Given the description of an element on the screen output the (x, y) to click on. 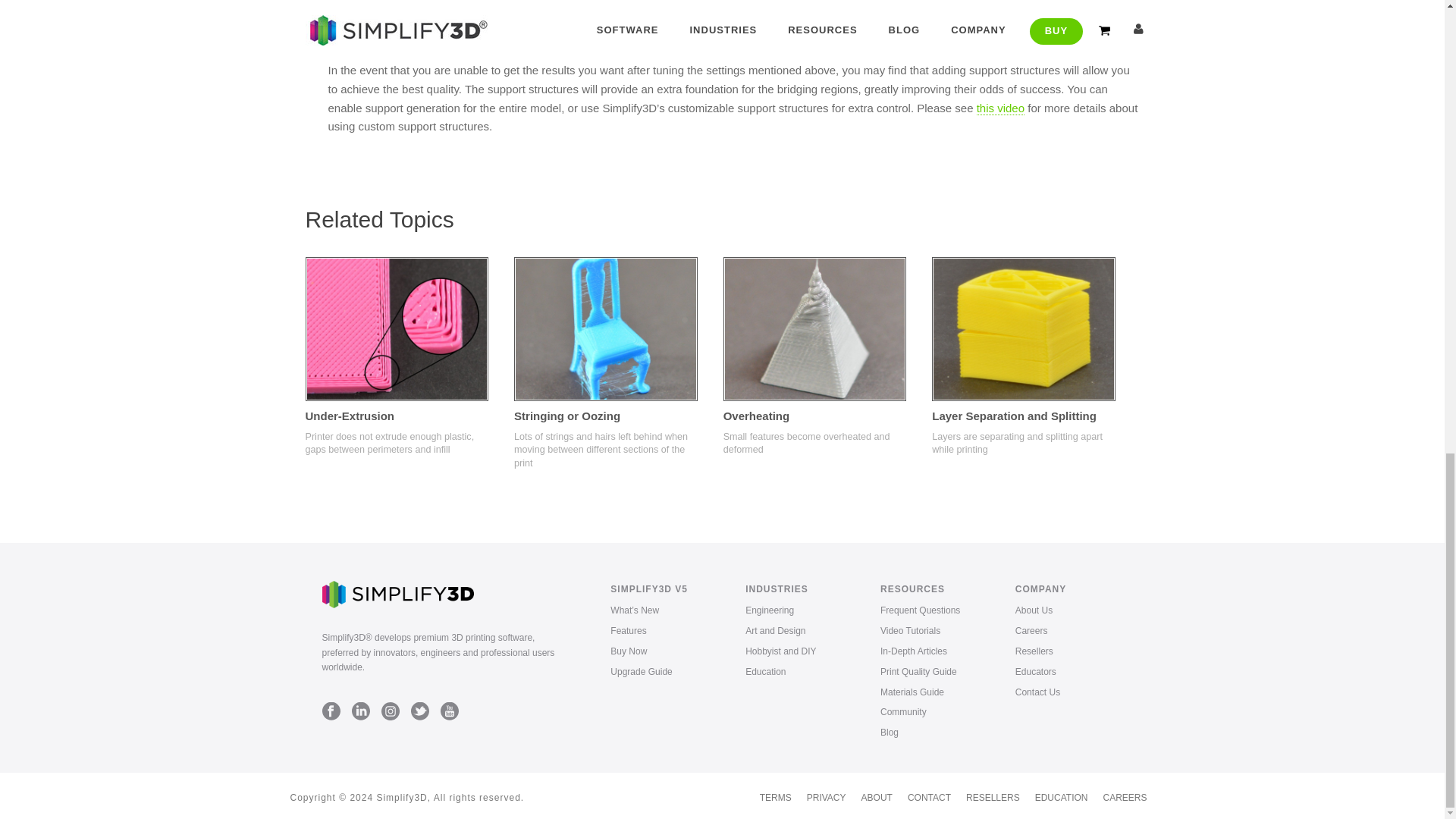
 instagram (389, 711)
Layer Separation and Splitting (1023, 328)
Under-Extrusion (395, 328)
 linkedin (360, 711)
Overheating (815, 328)
 facebook (330, 711)
Stringing or Oozing (605, 328)
